Given the description of an element on the screen output the (x, y) to click on. 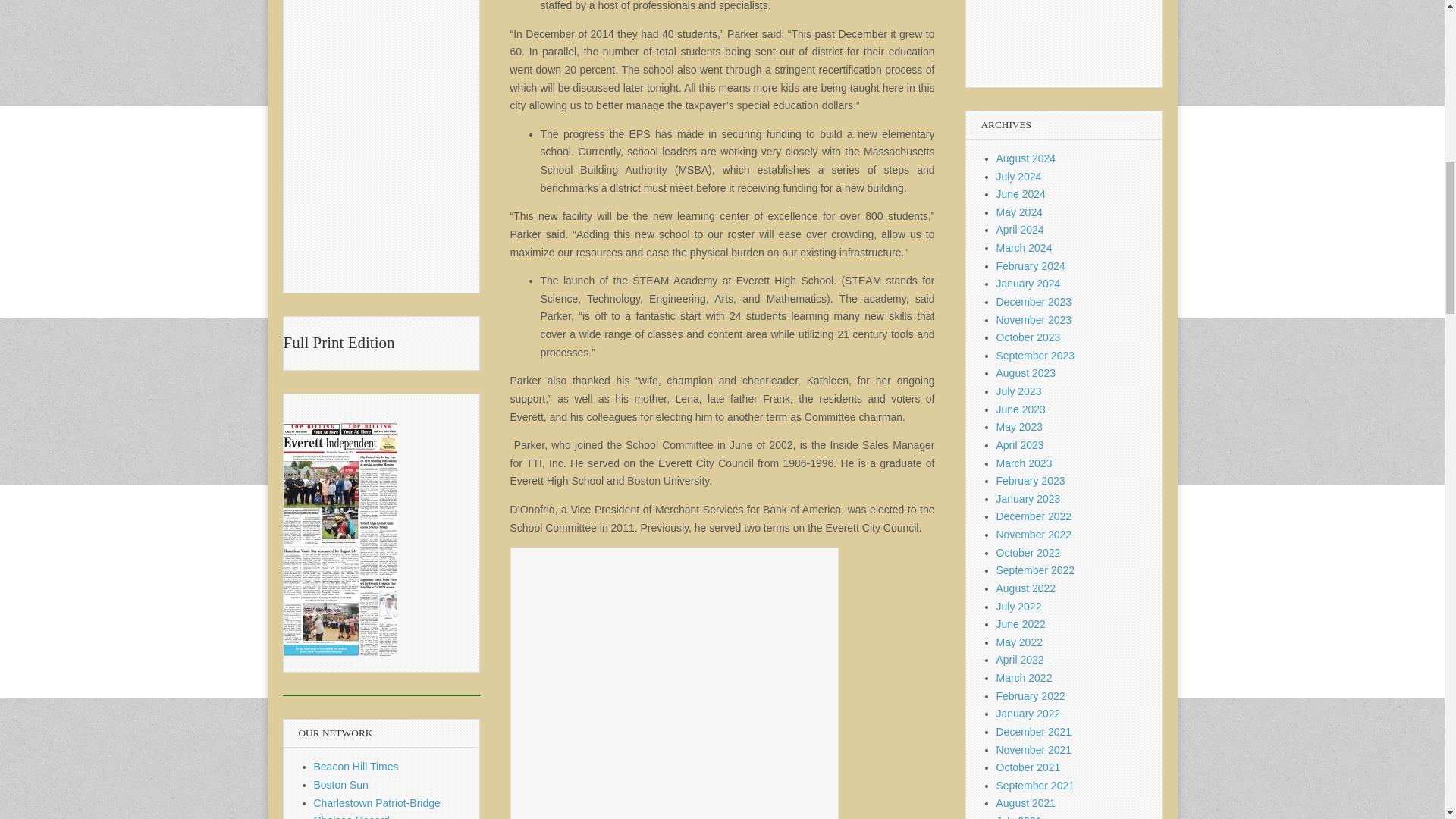
Charlestown Patriot-Bridge (377, 802)
Boston Sun (341, 784)
Beacon Hill Times (356, 766)
Chelsea Record (352, 816)
